Given the description of an element on the screen output the (x, y) to click on. 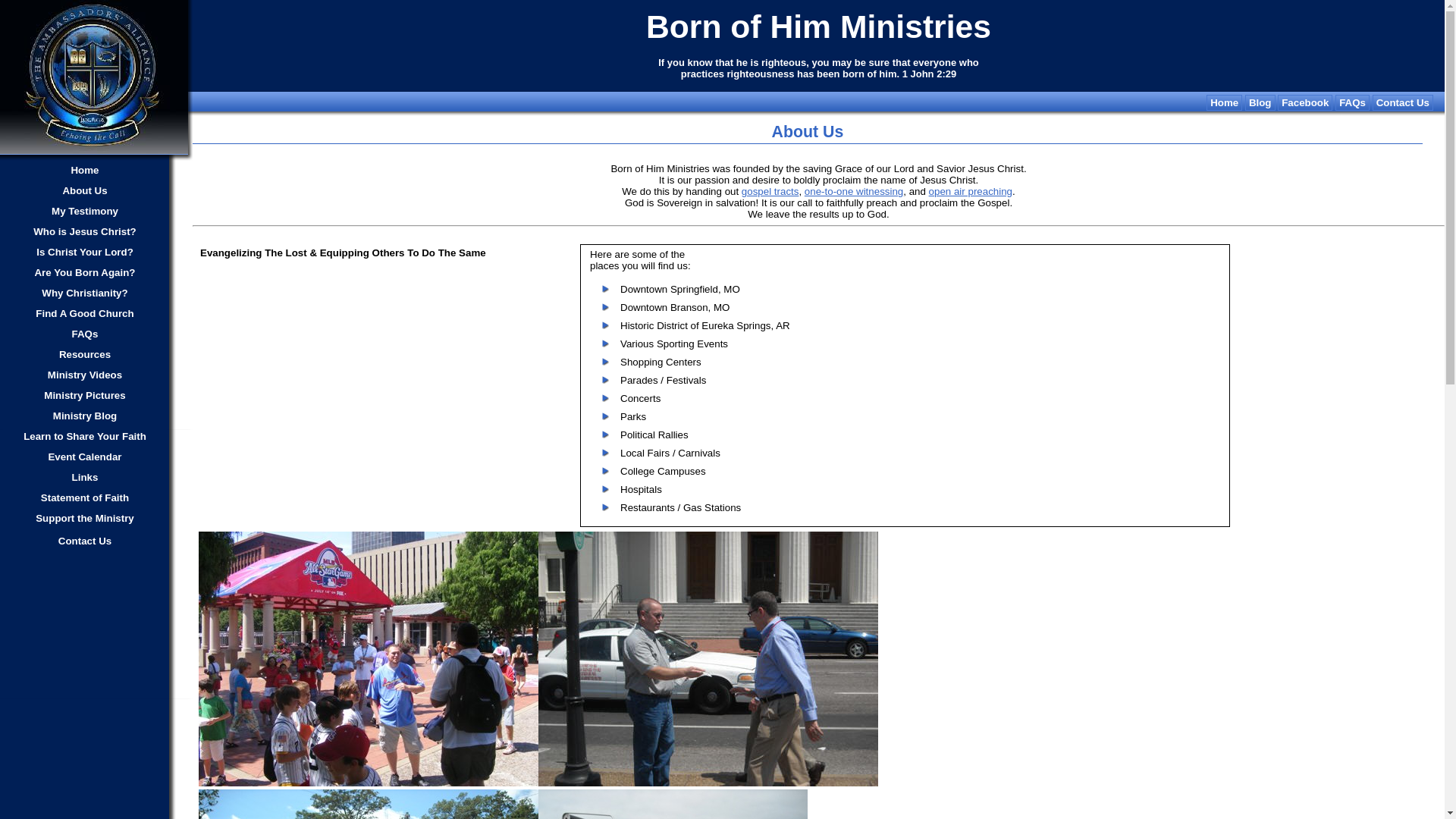
FAQs (84, 333)
Blog (1259, 102)
gospel tracts (770, 191)
Who is Jesus Christ? (84, 231)
Ministry Pictures (84, 395)
Contact Us (84, 541)
Ministry Blog (84, 415)
one-to-one witnessing (853, 191)
Statement of Faith (84, 497)
Find A Good Church (84, 313)
Learn to Share Your Faith (84, 436)
My Testimony (84, 211)
Are You Born Again? (84, 272)
Ministry Videos (84, 374)
Support the Ministry (84, 518)
